Given the description of an element on the screen output the (x, y) to click on. 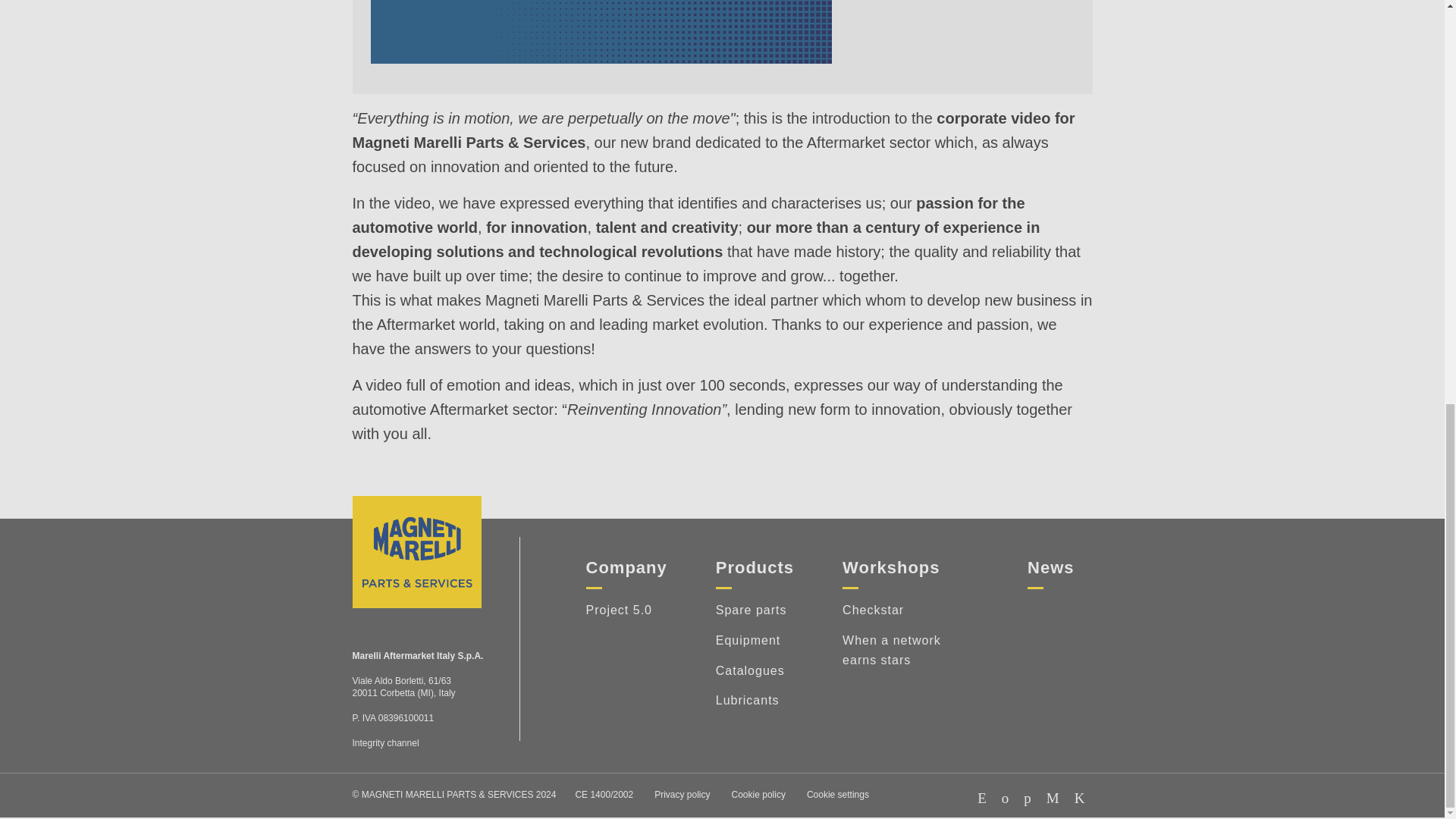
Project 5.0 (625, 604)
Products (754, 567)
Equipment (754, 634)
Lubricants (754, 695)
Company (625, 567)
Catalogues (754, 665)
Equipment (754, 634)
Company (625, 567)
Project 5.0 (625, 604)
Spare parts (754, 604)
Spare parts (754, 604)
Workshops (891, 567)
Integrity channel (385, 742)
Products (754, 567)
Workshops (891, 567)
